Given the description of an element on the screen output the (x, y) to click on. 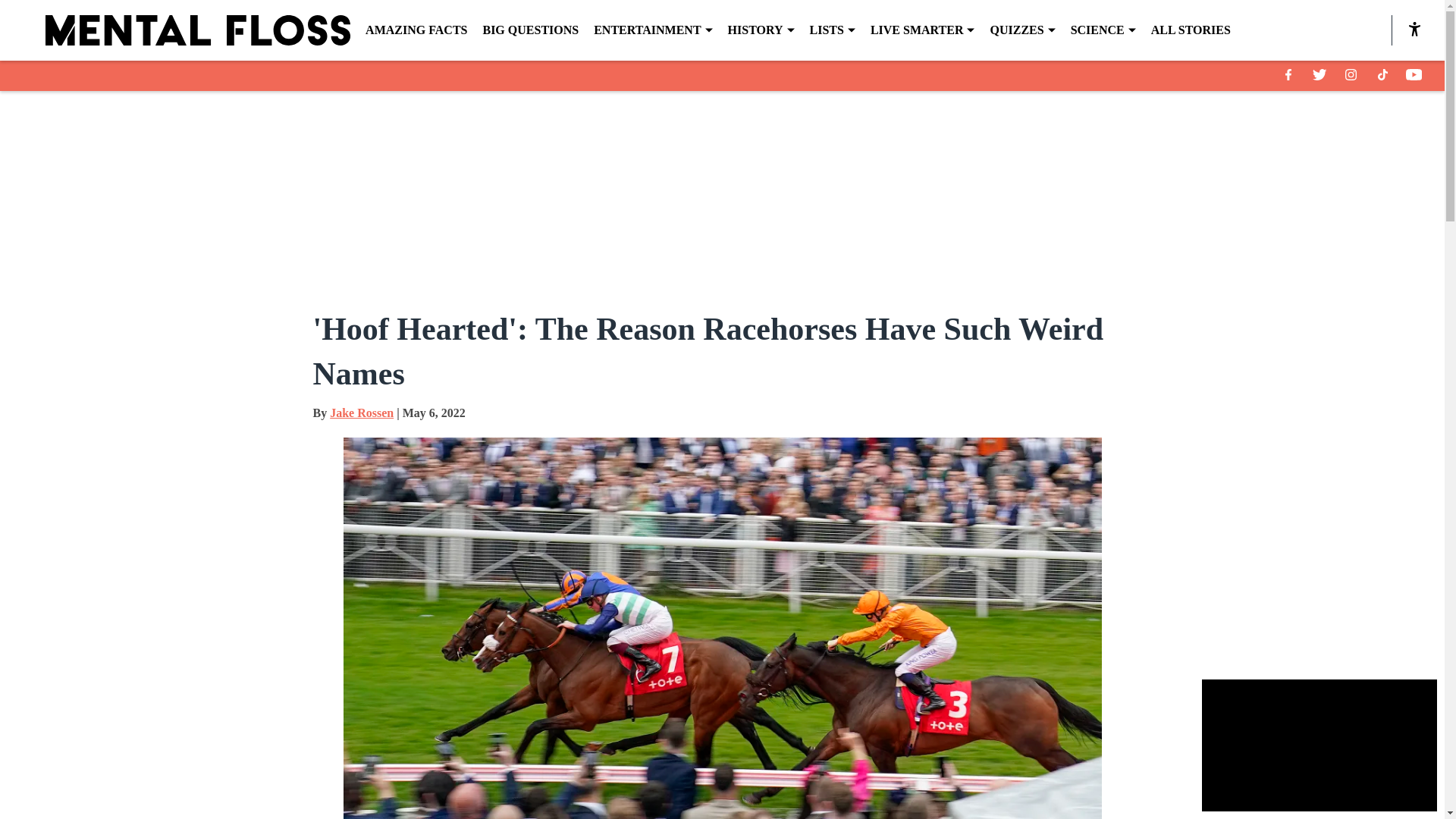
BIG QUESTIONS (529, 30)
ALL STORIES (1190, 30)
AMAZING FACTS (416, 30)
